Given the description of an element on the screen output the (x, y) to click on. 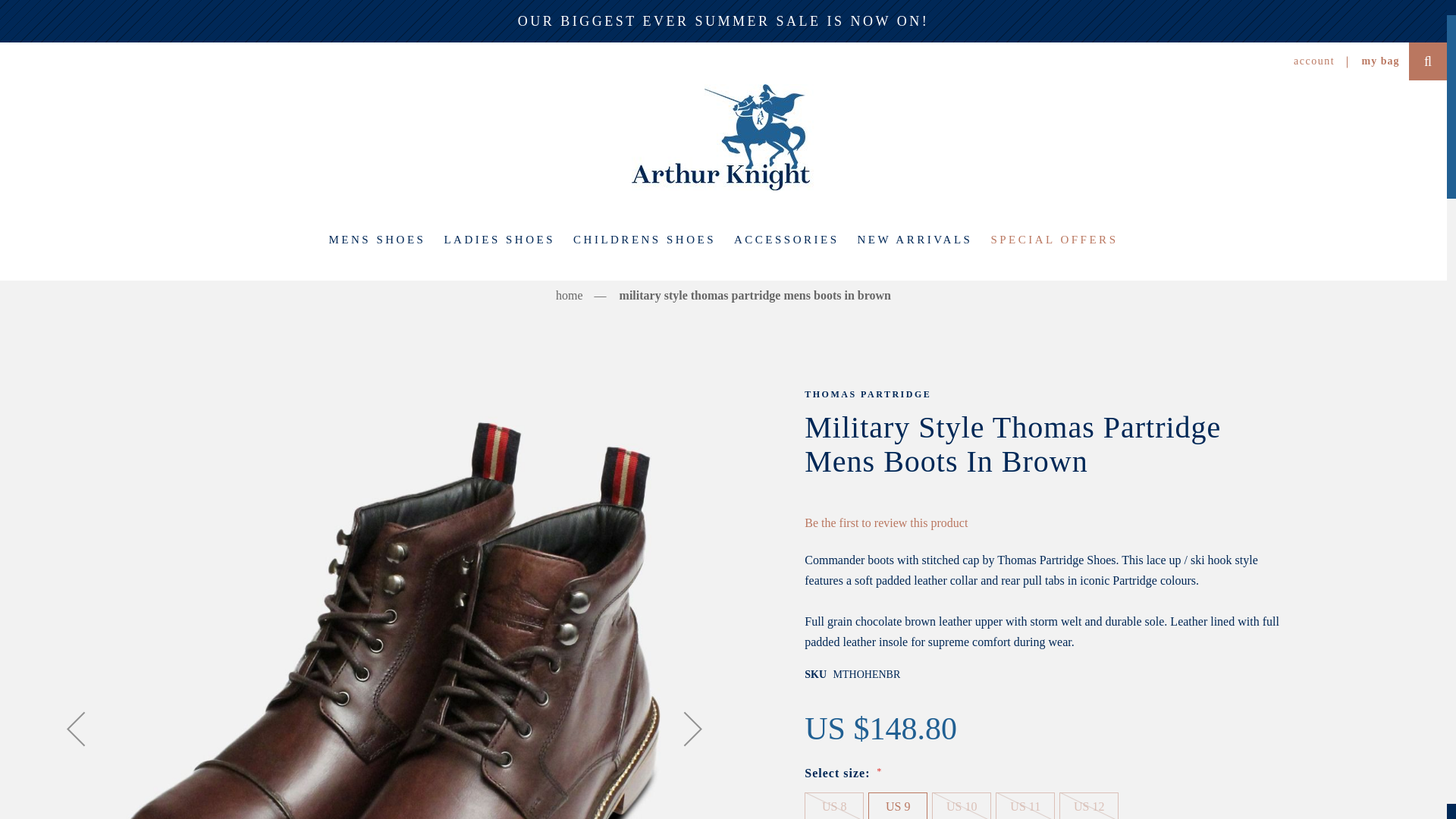
my bag (1380, 61)
MENS SHOES (377, 239)
account (1314, 61)
